Given the description of an element on the screen output the (x, y) to click on. 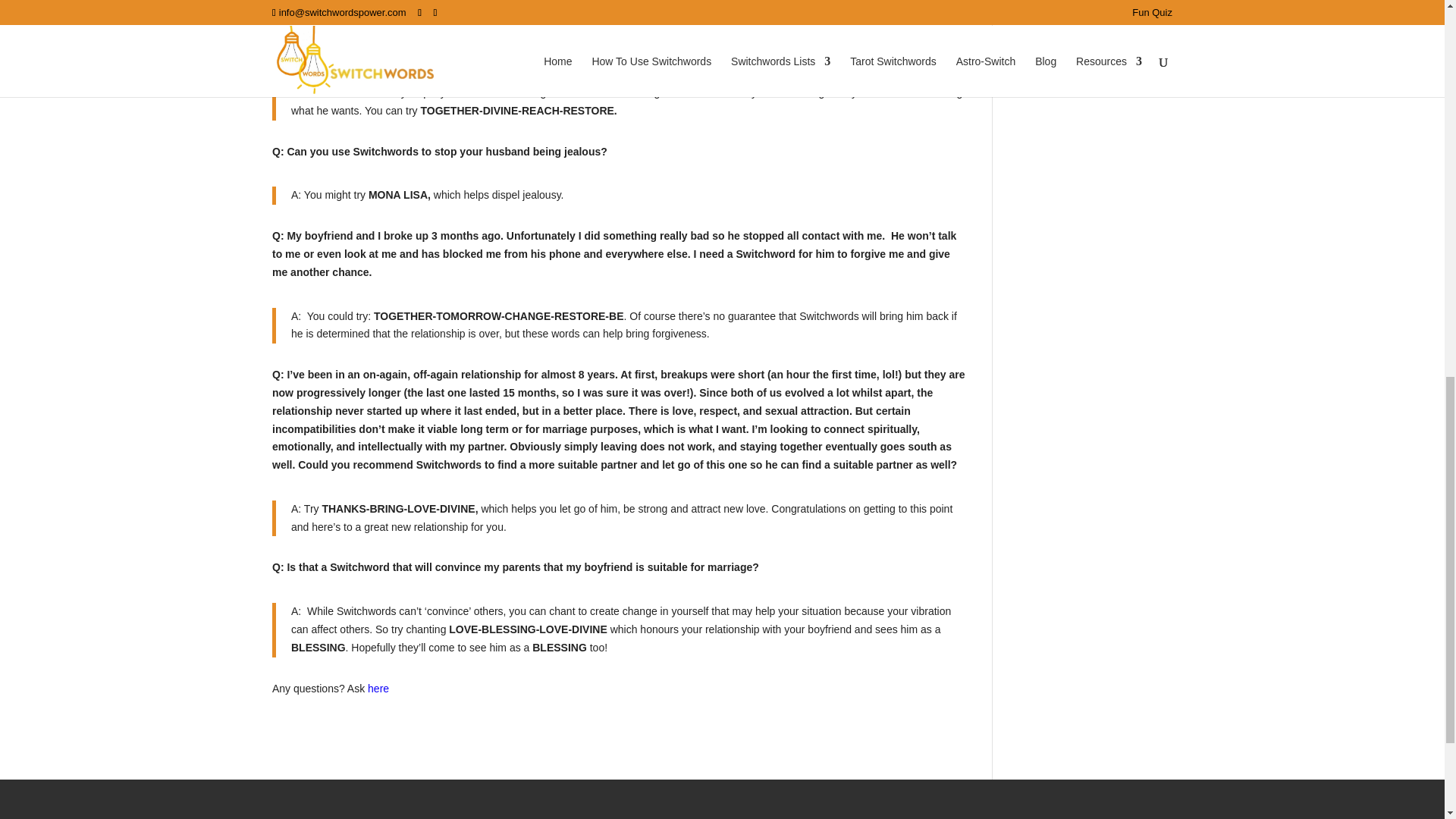
here (378, 688)
